Given the description of an element on the screen output the (x, y) to click on. 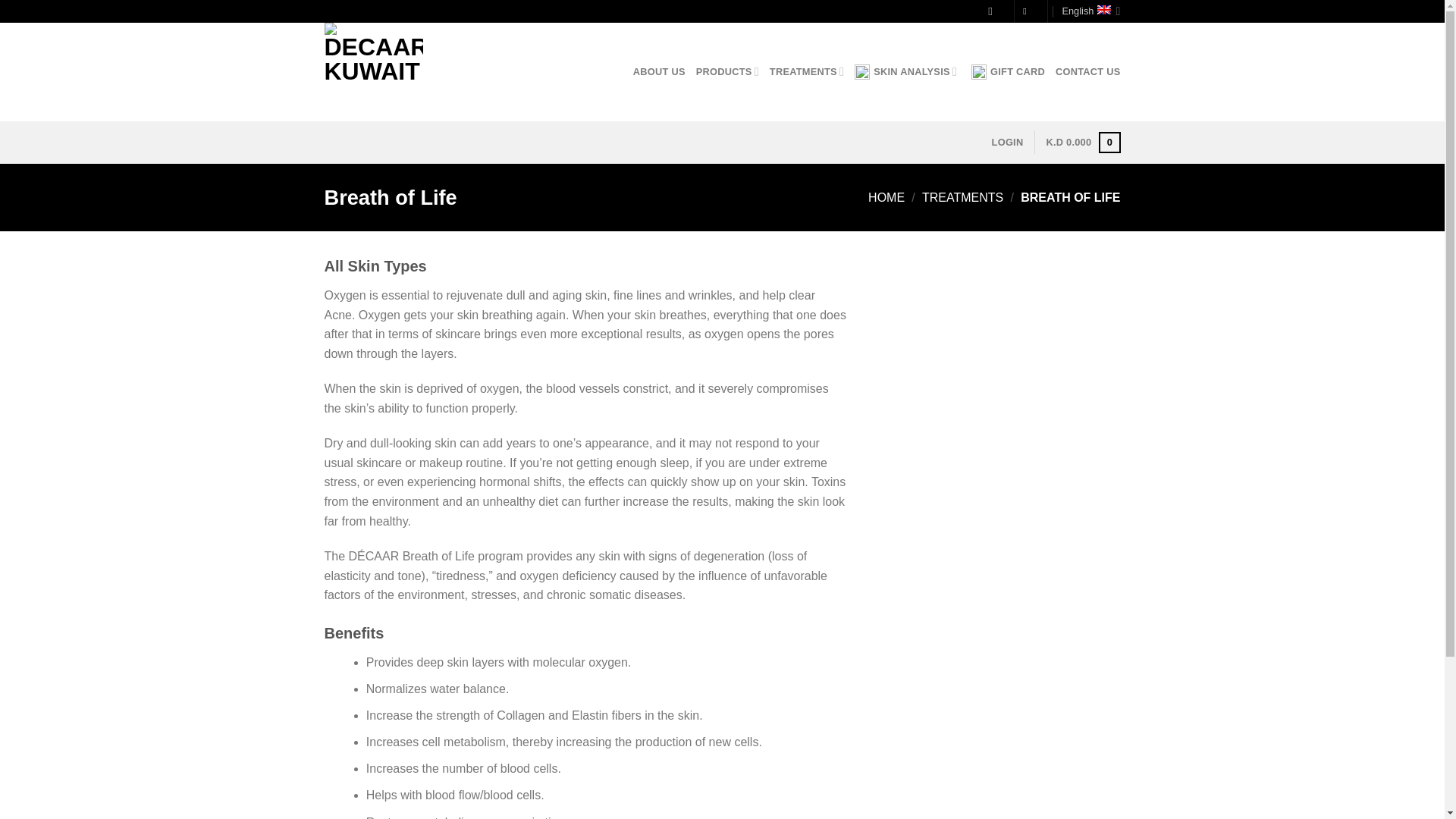
ABOUT US (659, 71)
Login (1007, 142)
Cart (1082, 142)
DECAAR KUWAIT - Professional Skincare (400, 71)
English (1090, 11)
PRODUCTS (726, 71)
